Given the description of an element on the screen output the (x, y) to click on. 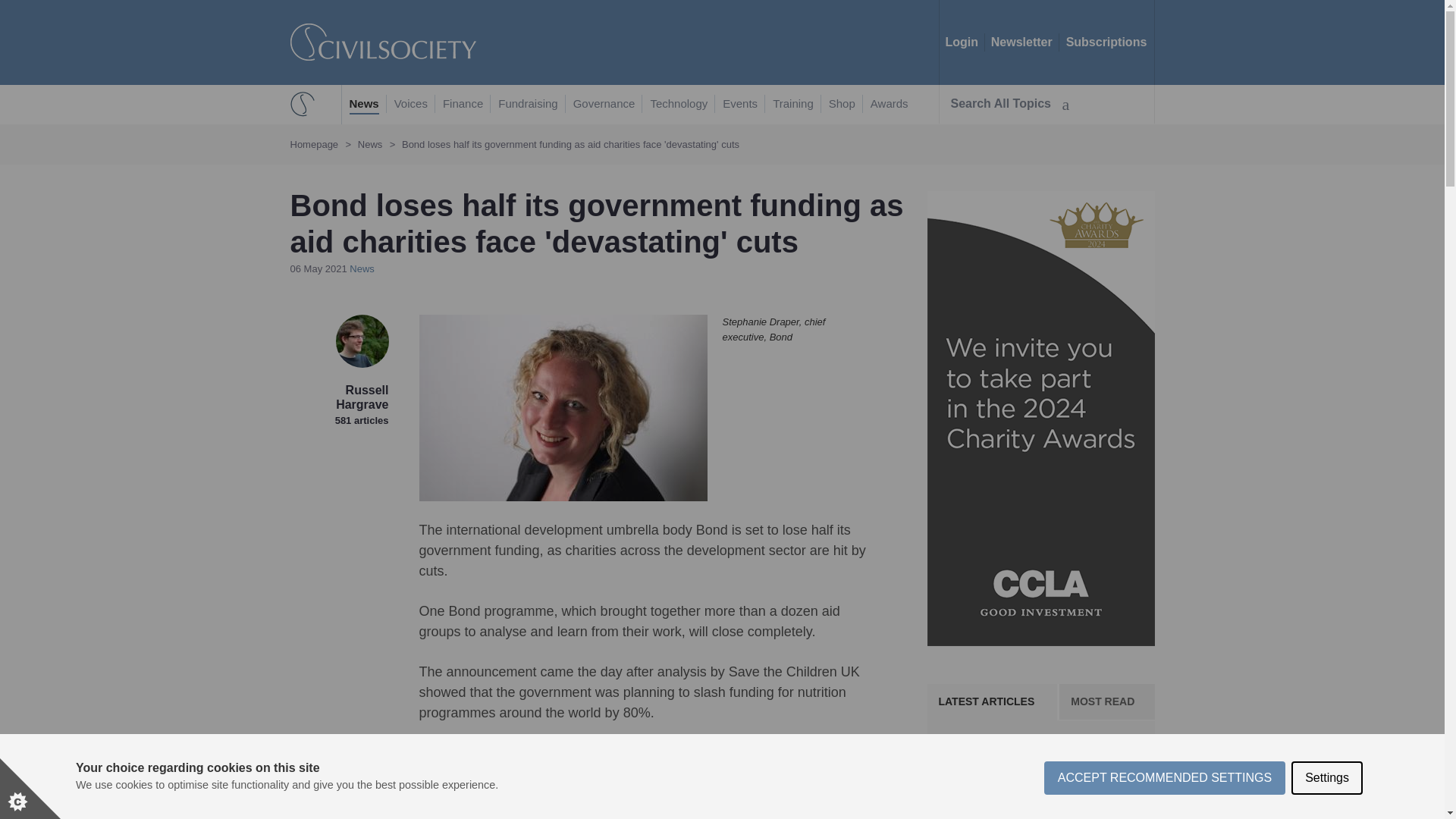
Finance (462, 104)
Awards (889, 104)
News (361, 268)
Shop (842, 104)
Fundraising (527, 104)
News (363, 104)
Search All Topics (1009, 103)
News (370, 143)
Settings (1326, 815)
Training (793, 104)
